Given the description of an element on the screen output the (x, y) to click on. 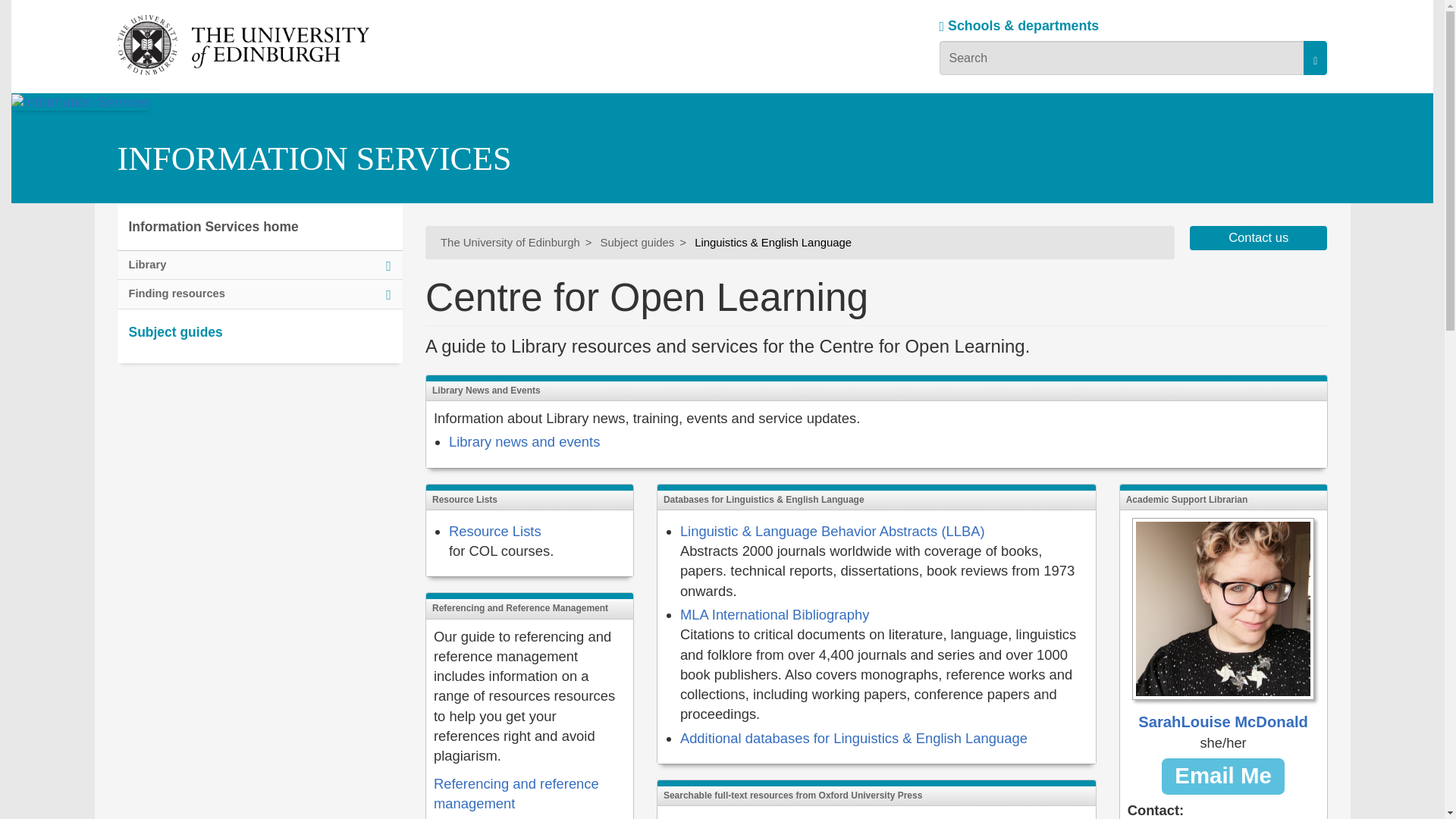
Information Services home (259, 226)
INFORMATION SERVICES (313, 158)
Information Services (168, 165)
Resource Lists (494, 530)
Contact us (1258, 238)
Finding resources (259, 294)
MLA International Bibliography (774, 614)
Subject guides (637, 242)
SarahLouise McDonald (1222, 625)
Website Programme contact details (1258, 238)
